Given the description of an element on the screen output the (x, y) to click on. 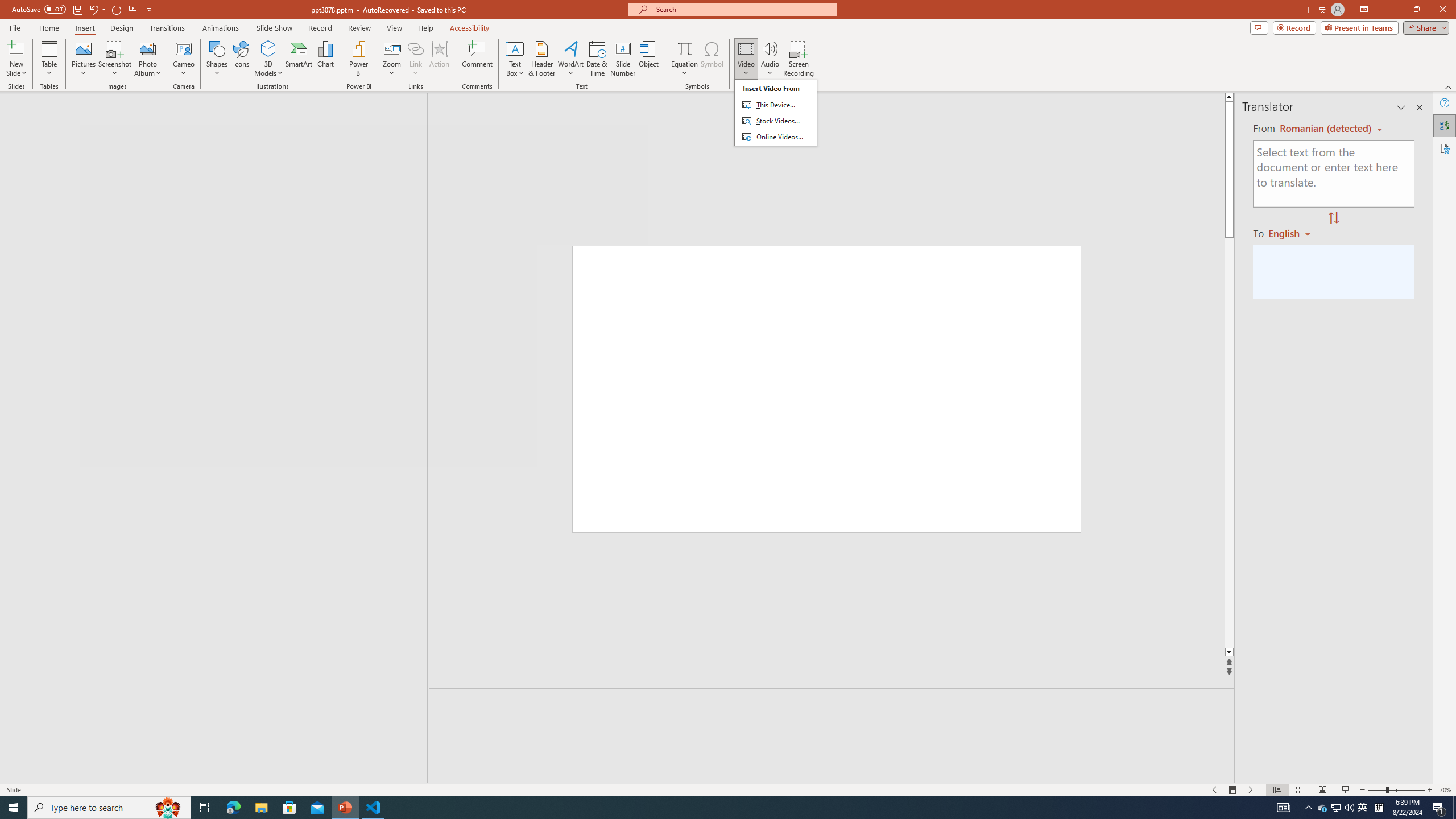
Slide Number (622, 58)
Object... (649, 58)
Header & Footer... (541, 58)
New Photo Album... (147, 48)
Romanian (detected) (1323, 128)
Outline (218, 122)
